Given the description of an element on the screen output the (x, y) to click on. 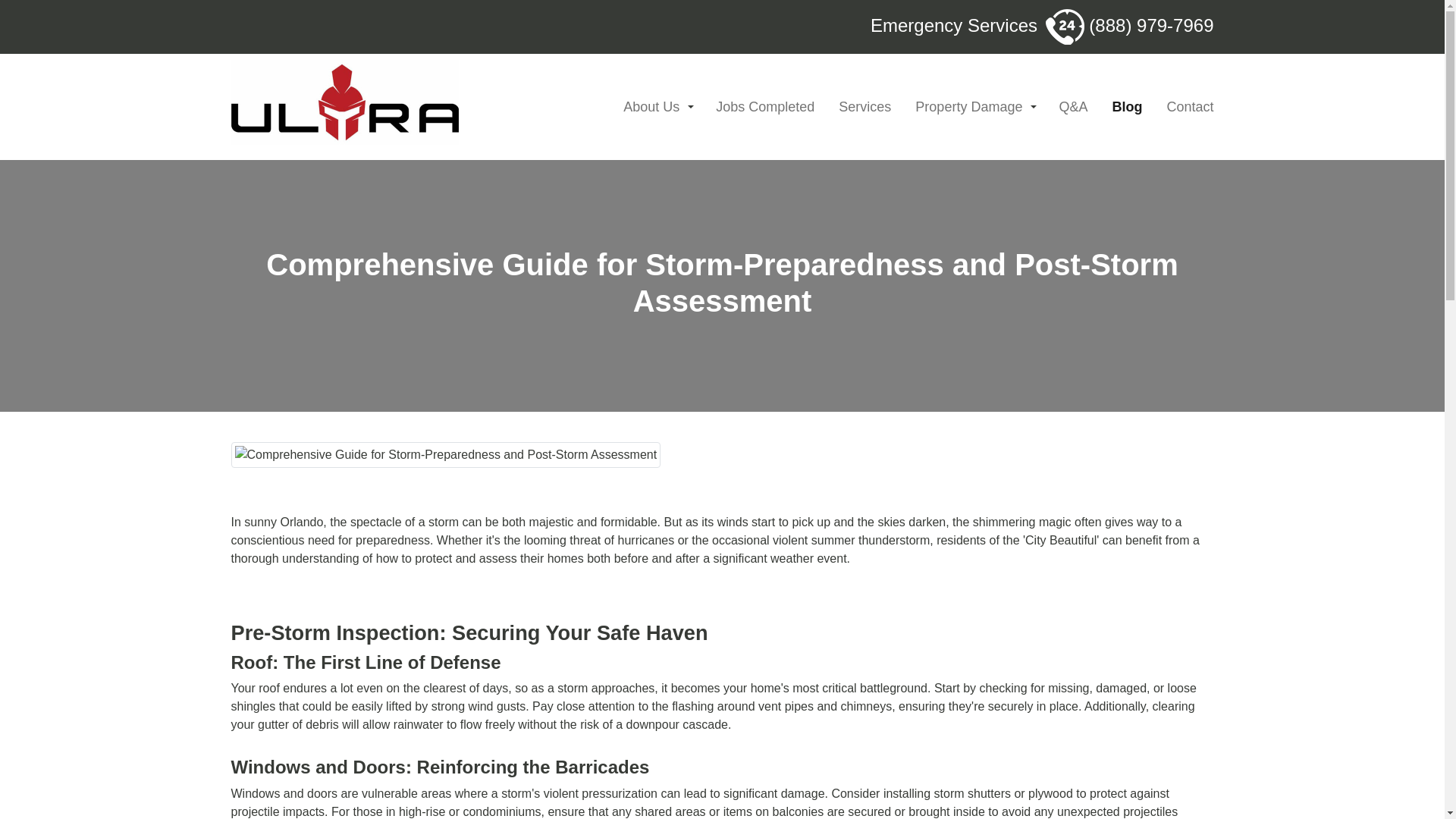
About Us (657, 106)
Contact (1186, 106)
Services (864, 106)
About Us (657, 106)
Property Damage (974, 106)
Jobs Completed (765, 106)
Blog (1126, 106)
Blog (1126, 106)
Contact (1186, 106)
Jobs Completed (765, 106)
Property Damage (974, 106)
Services (864, 106)
